Given the description of an element on the screen output the (x, y) to click on. 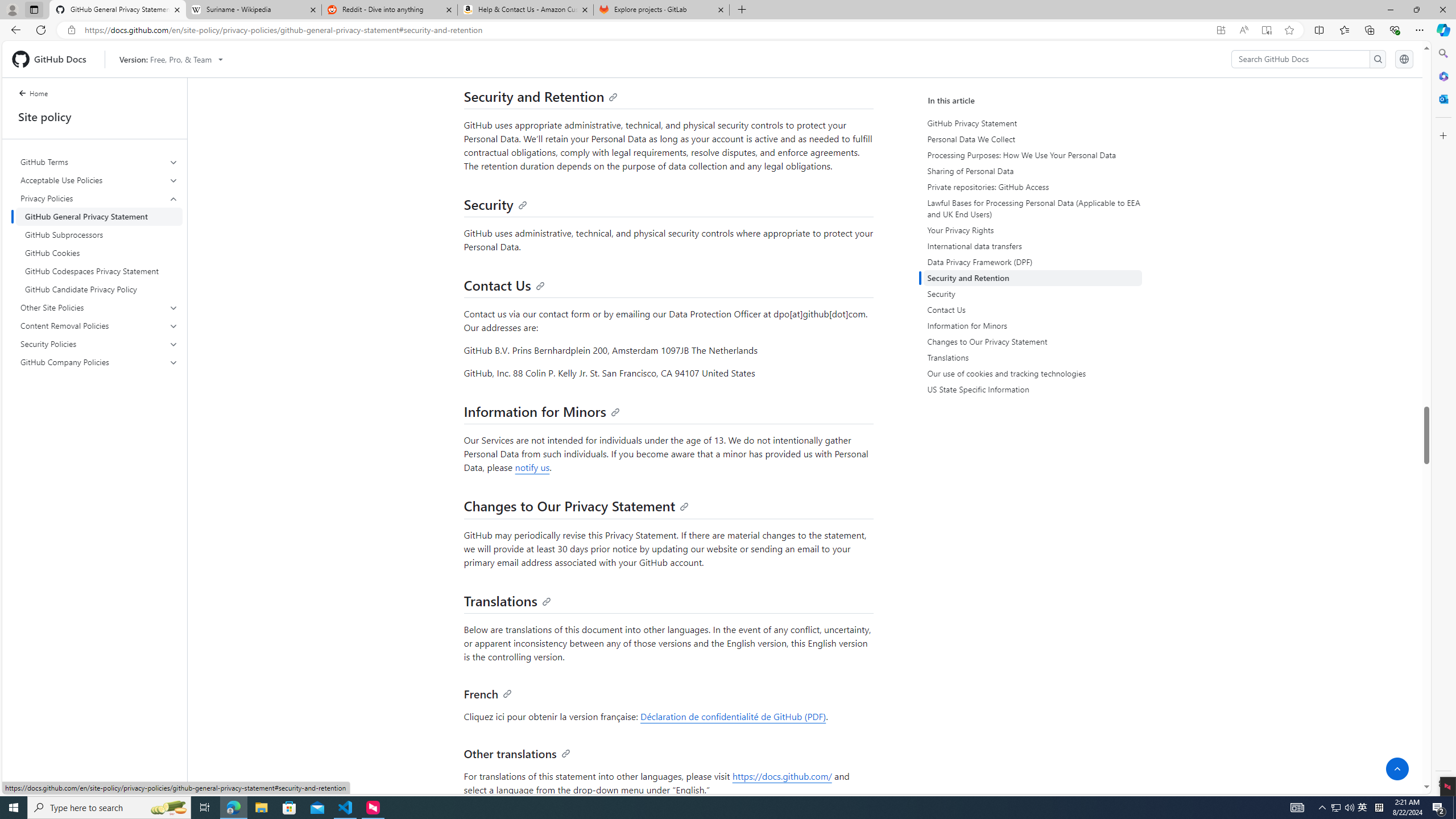
GitHub Candidate Privacy Policy (99, 289)
GitHub Company Policies (99, 361)
Our use of cookies and tracking technologies (1032, 373)
GitHub Company Policies (99, 361)
Security and Retention (1032, 277)
Private repositories: GitHub Access (1034, 186)
Security and Retention (540, 95)
International data transfers (1032, 245)
GitHub Docs (53, 58)
https://docs.github.com/ (781, 775)
Translations (1032, 357)
Processing Purposes: How We Use Your Personal Data (1032, 154)
